Given the description of an element on the screen output the (x, y) to click on. 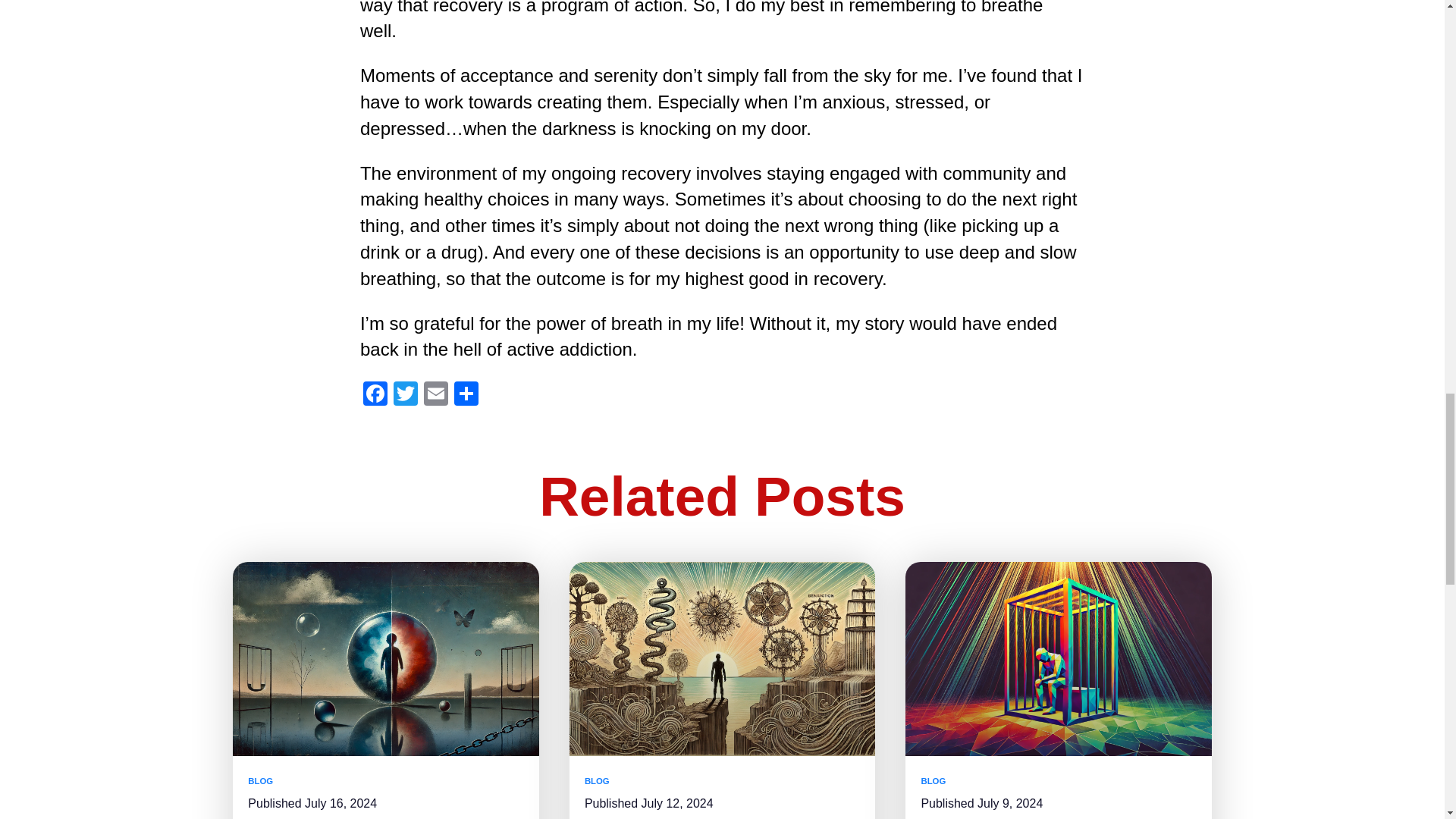
Facebook (374, 395)
Share (466, 395)
Email (435, 395)
Twitter (405, 395)
Facebook (374, 395)
Email (435, 395)
Twitter (405, 395)
